Given the description of an element on the screen output the (x, y) to click on. 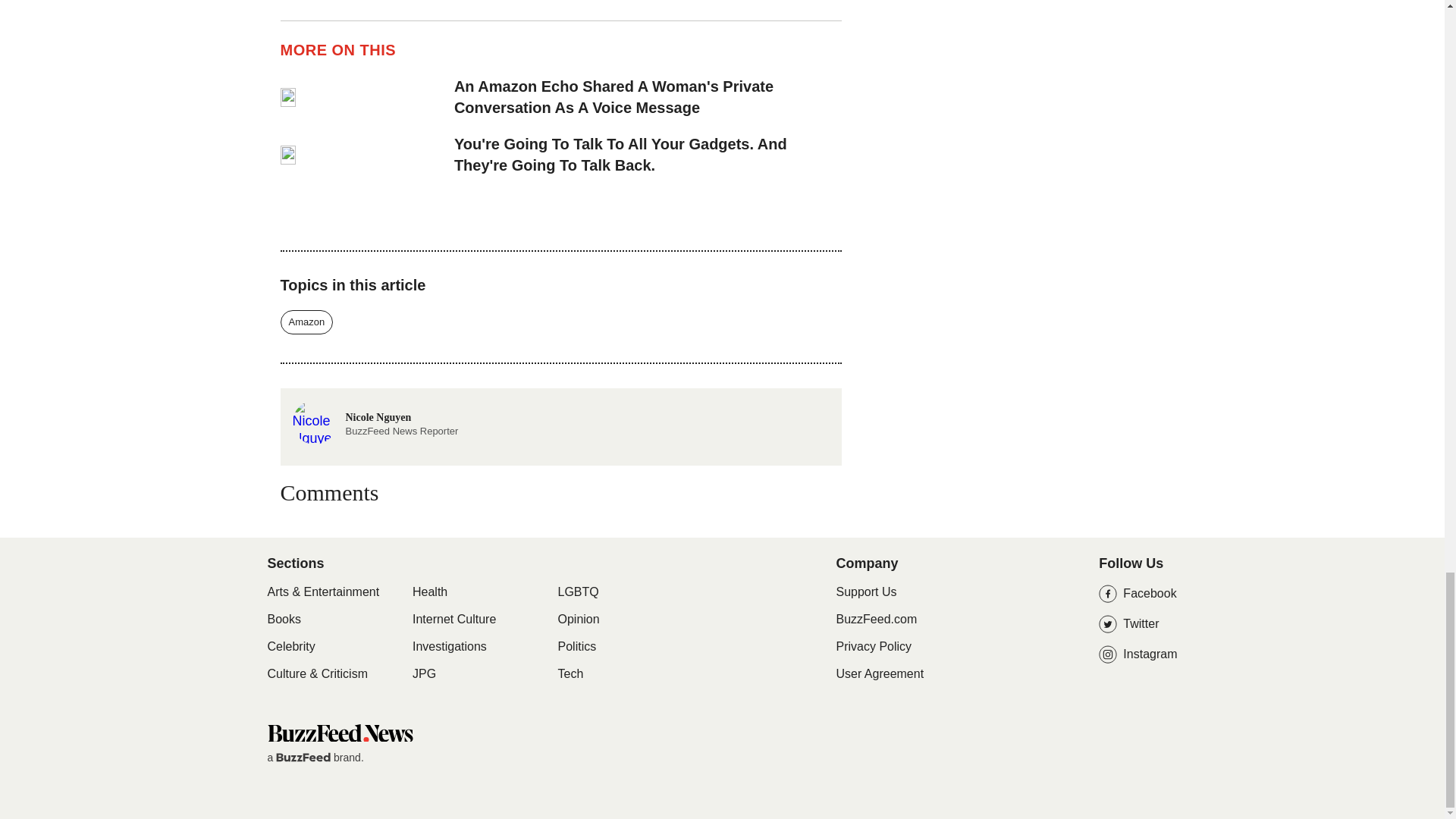
Politics (576, 646)
Amazon (307, 322)
LGBTQ (577, 591)
Books (282, 619)
Investigations (375, 420)
Health (449, 646)
JPG (429, 591)
Celebrity (423, 673)
BuzzFeed News Home (290, 646)
Opinion (339, 732)
Internet Culture (578, 619)
BuzzFeed (454, 619)
